Given the description of an element on the screen output the (x, y) to click on. 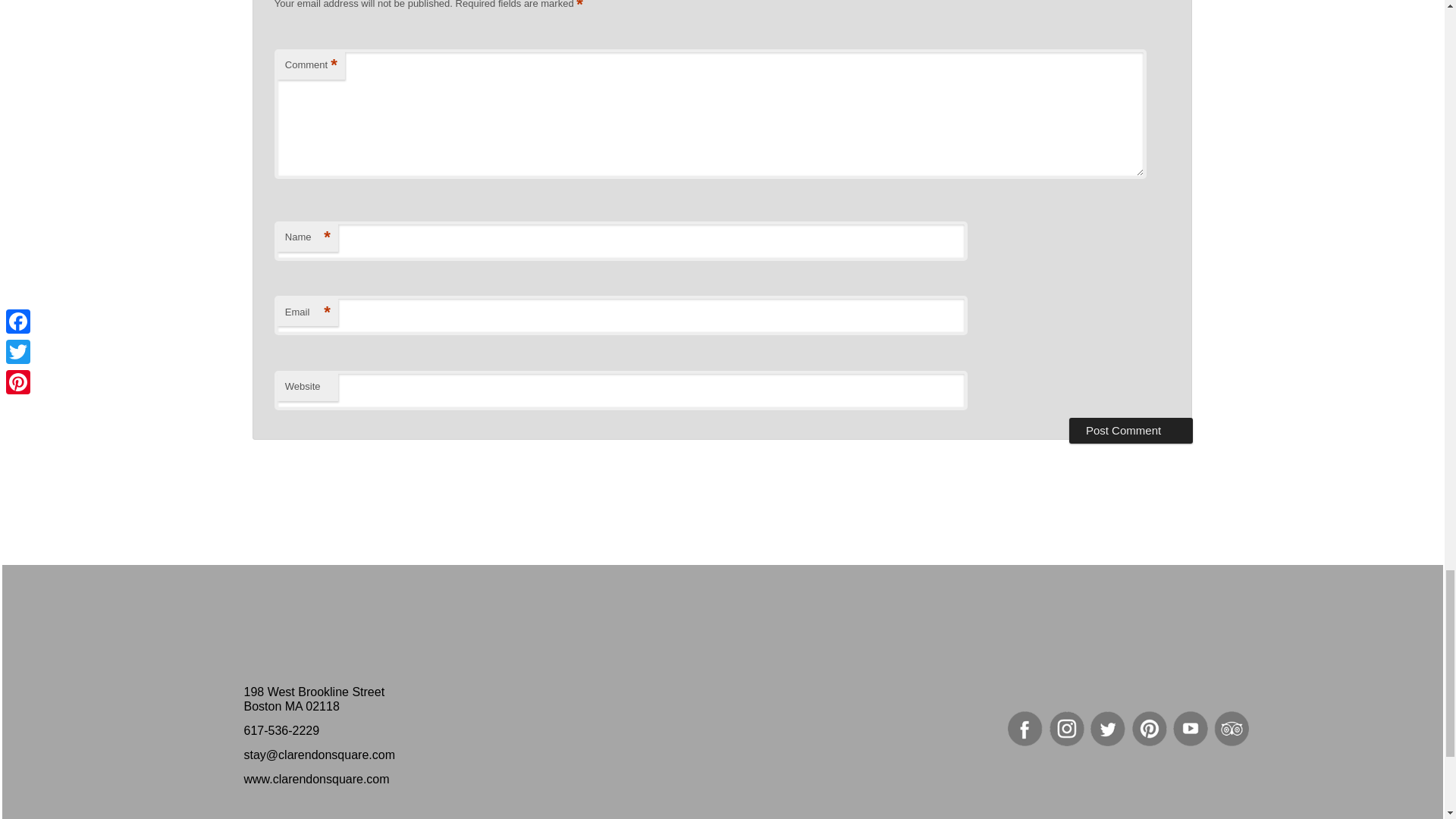
Post Comment (1130, 430)
See us on Instagram (1066, 728)
Like us on Facebook (1024, 728)
Follow us on Twitter (1107, 728)
Read Reviews (1231, 728)
Pin us on Pinterest (1149, 728)
View our YouTube Channel (1190, 728)
